Given the description of an element on the screen output the (x, y) to click on. 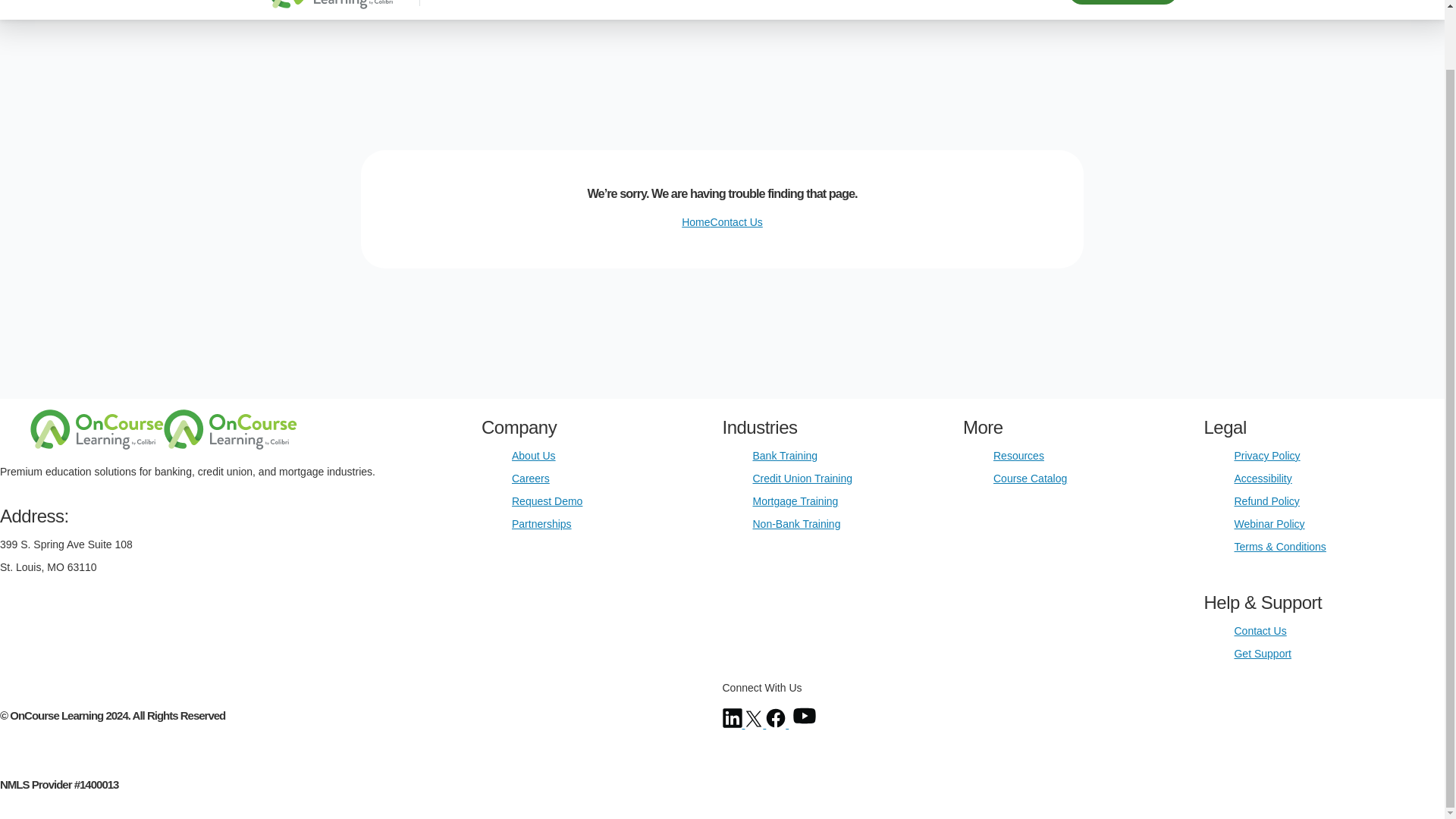
Resources (1017, 455)
Request Demo (1121, 2)
Request Demo (547, 500)
Privacy Policy (1266, 455)
Contact Us (736, 222)
Get Support (1262, 653)
Partnerships (542, 523)
Mortgage Training (795, 500)
Course Catalog (1029, 478)
Home (695, 222)
